Given the description of an element on the screen output the (x, y) to click on. 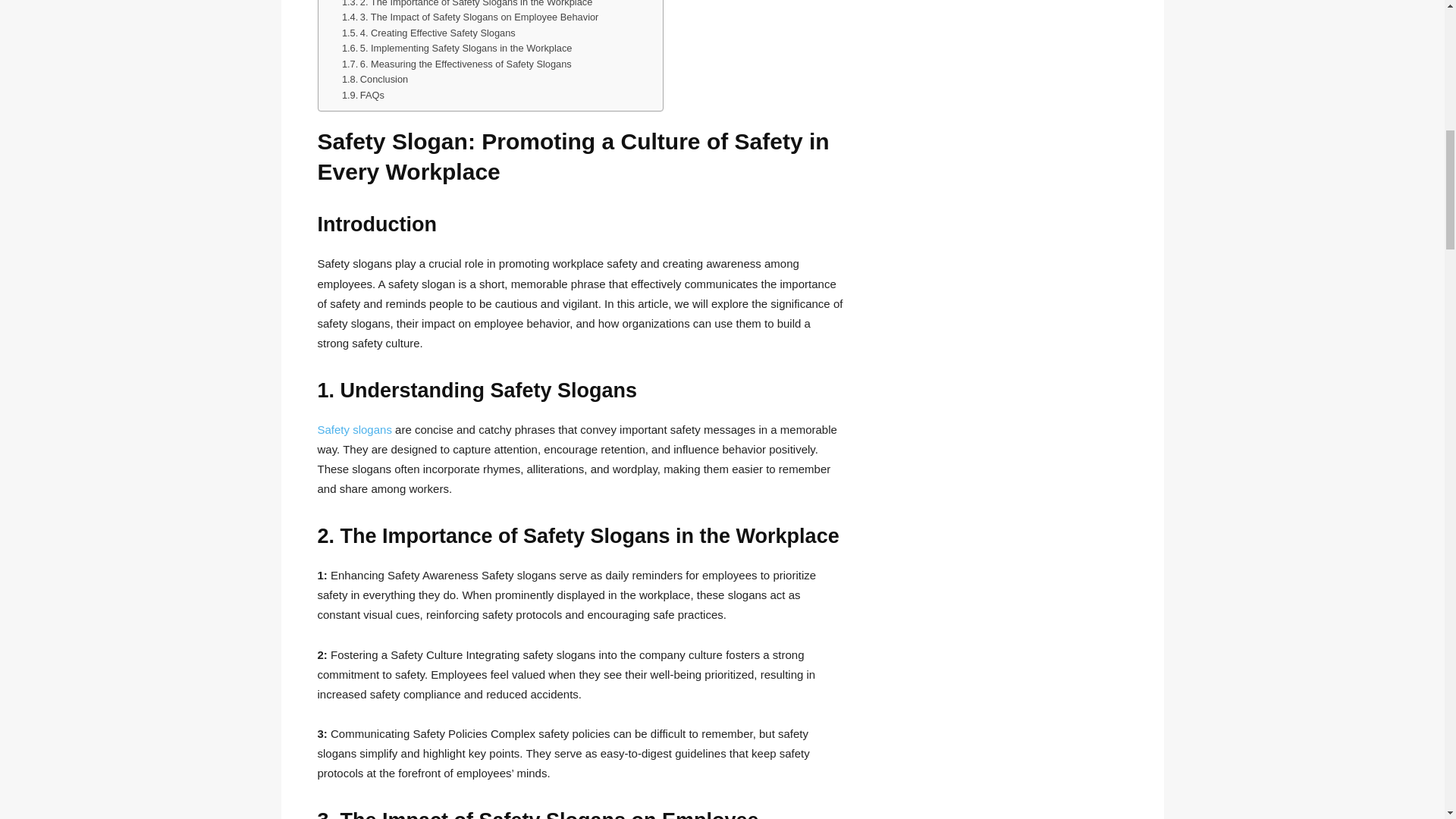
2. The Importance of Safety Slogans in the Workplace (467, 5)
